Given the description of an element on the screen output the (x, y) to click on. 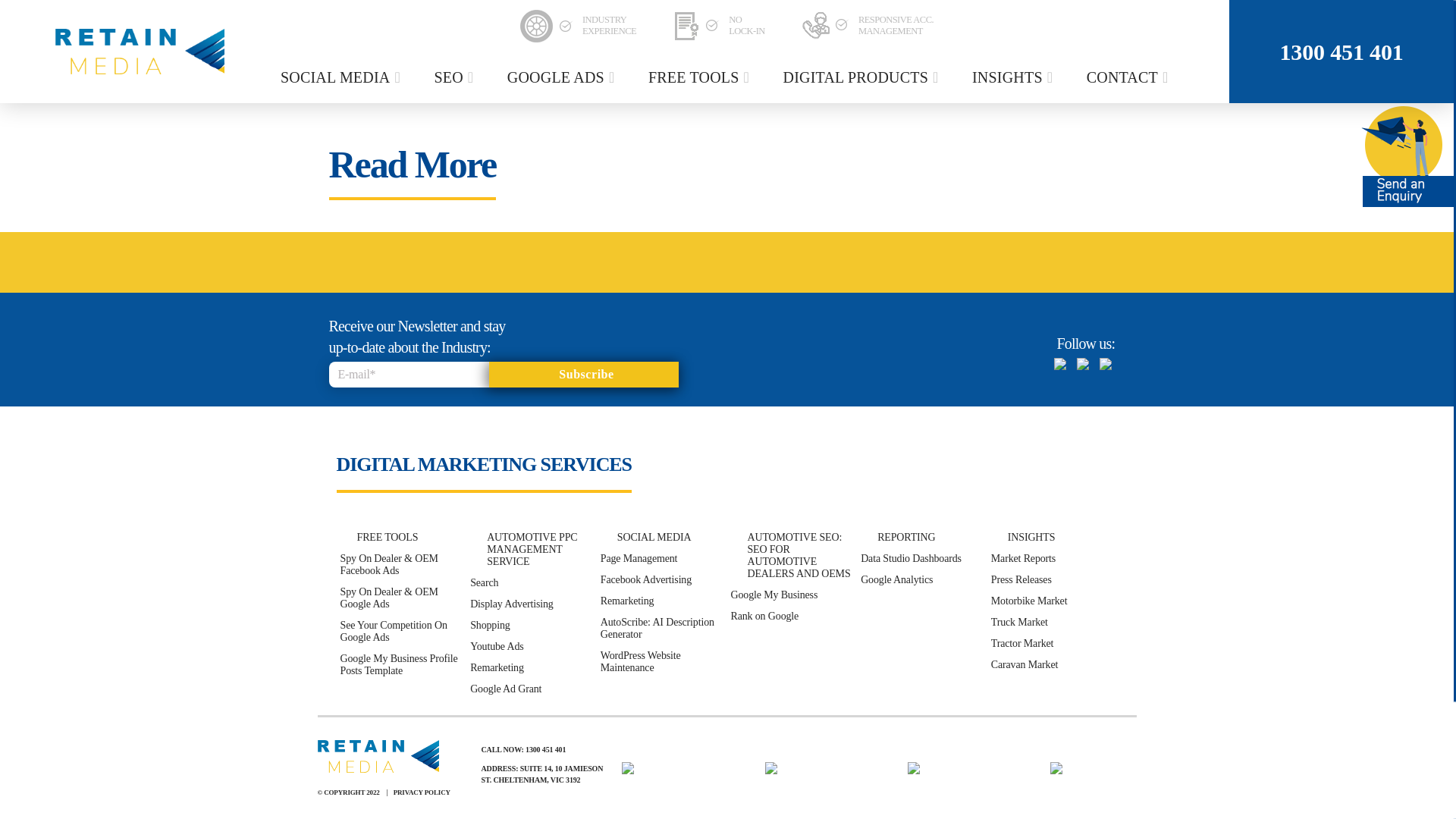
Subscribe (582, 374)
